Given the description of an element on the screen output the (x, y) to click on. 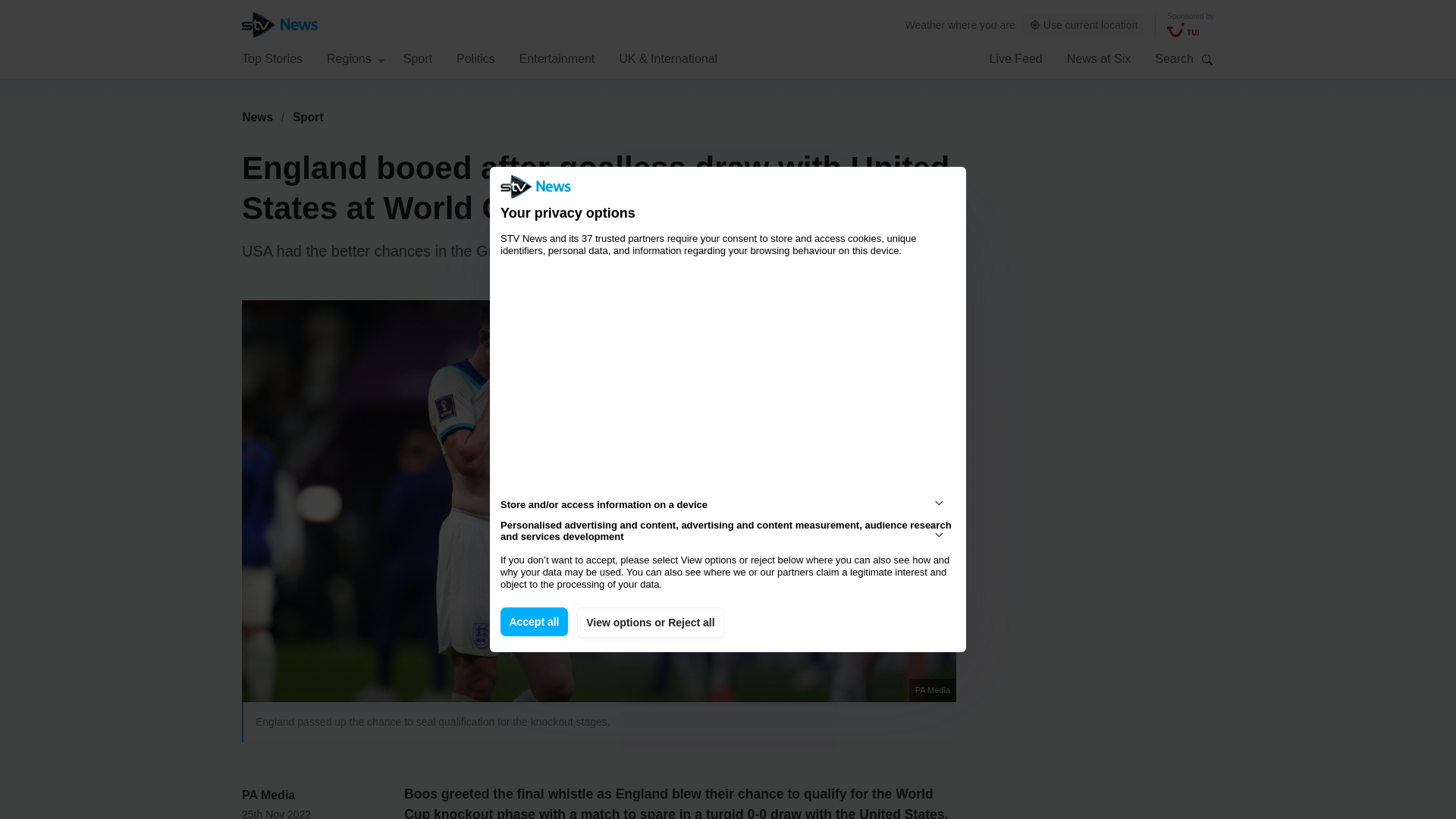
Sport (308, 116)
News at Six (1099, 57)
News (257, 116)
Politics (476, 57)
Live Feed (1015, 57)
Entertainment (557, 57)
Use current location (1083, 25)
Play Video (606, 507)
Regions (355, 57)
Search (1206, 59)
Weather (924, 24)
Top Stories (271, 57)
